Given the description of an element on the screen output the (x, y) to click on. 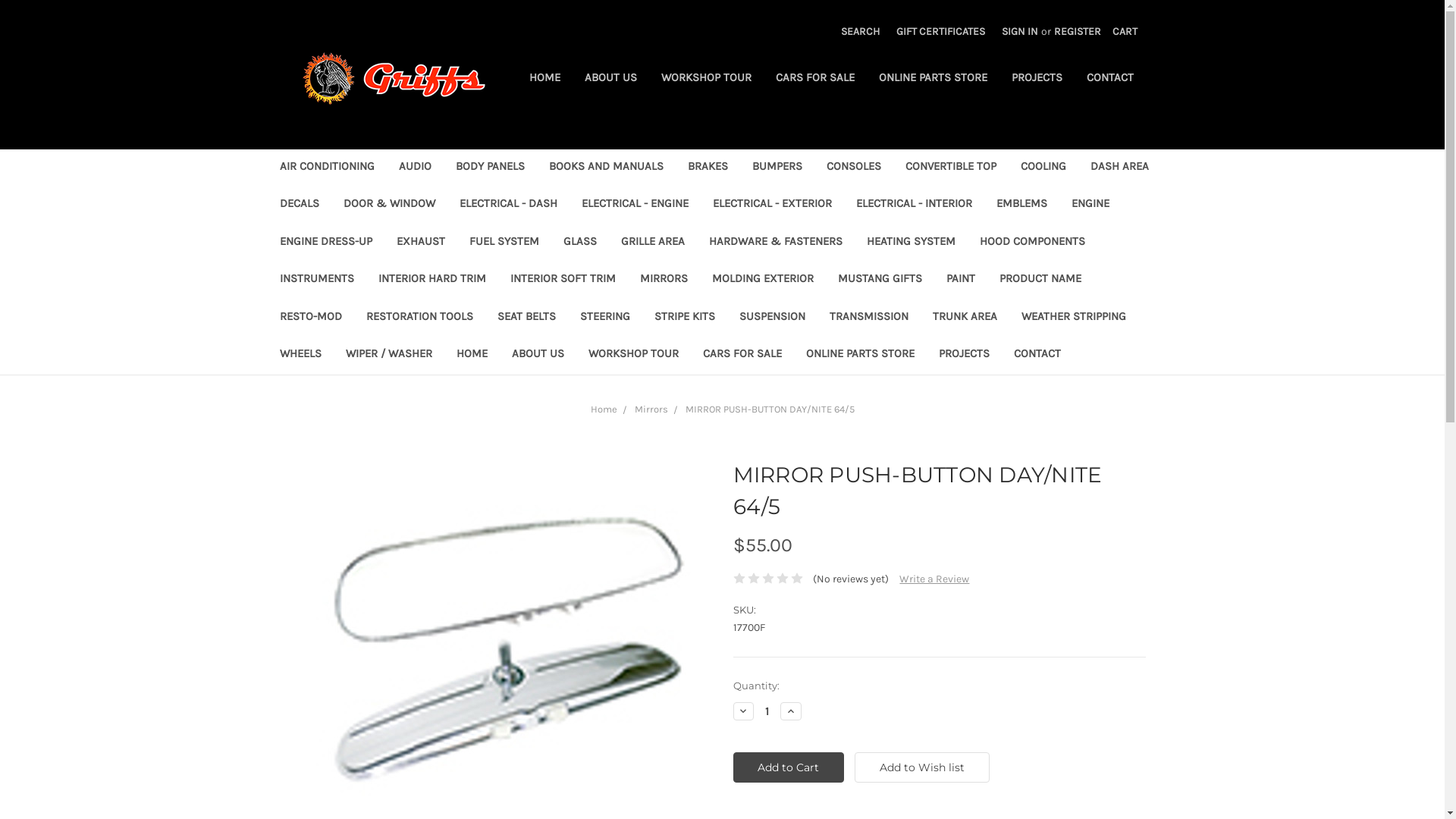
HOME Element type: text (471, 354)
HOME Element type: text (544, 78)
RESTO-MOD Element type: text (309, 317)
WIPER / WASHER Element type: text (388, 354)
WORKSHOP TOUR Element type: text (633, 354)
CART Element type: text (1124, 31)
INTERIOR SOFT TRIM Element type: text (562, 279)
BODY PANELS Element type: text (489, 167)
MIRROR PUSH-BUTTON DAY/NITE 64/5 Element type: text (769, 408)
SIGN IN Element type: text (1019, 31)
MOLDING EXTERIOR Element type: text (762, 279)
ELECTRICAL - ENGINE Element type: text (633, 204)
WEATHER STRIPPING Element type: text (1072, 317)
SEARCH Element type: text (860, 31)
MUSTANG GIFTS Element type: text (879, 279)
COOLING Element type: text (1043, 167)
INSTRUMENTS Element type: text (315, 279)
BOOKS AND MANUALS Element type: text (605, 167)
Add to Cart Element type: text (788, 767)
Mirrors Element type: text (650, 408)
Add to Wish list Element type: text (921, 767)
PROJECTS Element type: text (963, 354)
ABOUT US Element type: text (609, 78)
GRILLE AREA Element type: text (652, 242)
SEAT BELTS Element type: text (526, 317)
WORKSHOP TOUR Element type: text (706, 78)
RESTORATION TOOLS Element type: text (418, 317)
STRIPE KITS Element type: text (683, 317)
EXHAUST Element type: text (419, 242)
BRAKES Element type: text (706, 167)
ABOUT US Element type: text (536, 354)
SUSPENSION Element type: text (771, 317)
MIRROR PUSH-BUTTON DAY/NITE 64/5 Element type: hover (504, 632)
PRODUCT NAME Element type: text (1040, 279)
CONSOLES Element type: text (853, 167)
Griffs Element type: hover (393, 78)
AUDIO Element type: text (414, 167)
HEATING SYSTEM Element type: text (909, 242)
PAINT Element type: text (960, 279)
CARS FOR SALE Element type: text (741, 354)
CONVERTIBLE TOP Element type: text (950, 167)
DECALS Element type: text (298, 204)
STEERING Element type: text (604, 317)
Home Element type: text (602, 408)
TRUNK AREA Element type: text (964, 317)
ENGINE DRESS-UP Element type: text (324, 242)
ELECTRICAL - EXTERIOR Element type: text (772, 204)
WHEELS Element type: text (299, 354)
Increase Quantity: Element type: text (790, 711)
DASH AREA Element type: text (1119, 167)
ENGINE Element type: text (1089, 204)
ONLINE PARTS STORE Element type: text (932, 78)
DOOR & WINDOW Element type: text (388, 204)
INTERIOR HARD TRIM Element type: text (431, 279)
REGISTER Element type: text (1077, 31)
TRANSMISSION Element type: text (868, 317)
Write a Review Element type: text (934, 578)
ONLINE PARTS STORE Element type: text (859, 354)
ELECTRICAL - INTERIOR Element type: text (913, 204)
HARDWARE & FASTENERS Element type: text (774, 242)
FUEL SYSTEM Element type: text (503, 242)
GIFT CERTIFICATES Element type: text (940, 31)
AIR CONDITIONING Element type: text (325, 167)
PROJECTS Element type: text (1036, 78)
CARS FOR SALE Element type: text (814, 78)
HOOD COMPONENTS Element type: text (1032, 242)
CONTACT Element type: text (1036, 354)
CONTACT Element type: text (1109, 78)
BUMPERS Element type: text (777, 167)
Decrease Quantity: Element type: text (742, 711)
ELECTRICAL - DASH Element type: text (508, 204)
MIRRORS Element type: text (663, 279)
GLASS Element type: text (579, 242)
EMBLEMS Element type: text (1021, 204)
